Given the description of an element on the screen output the (x, y) to click on. 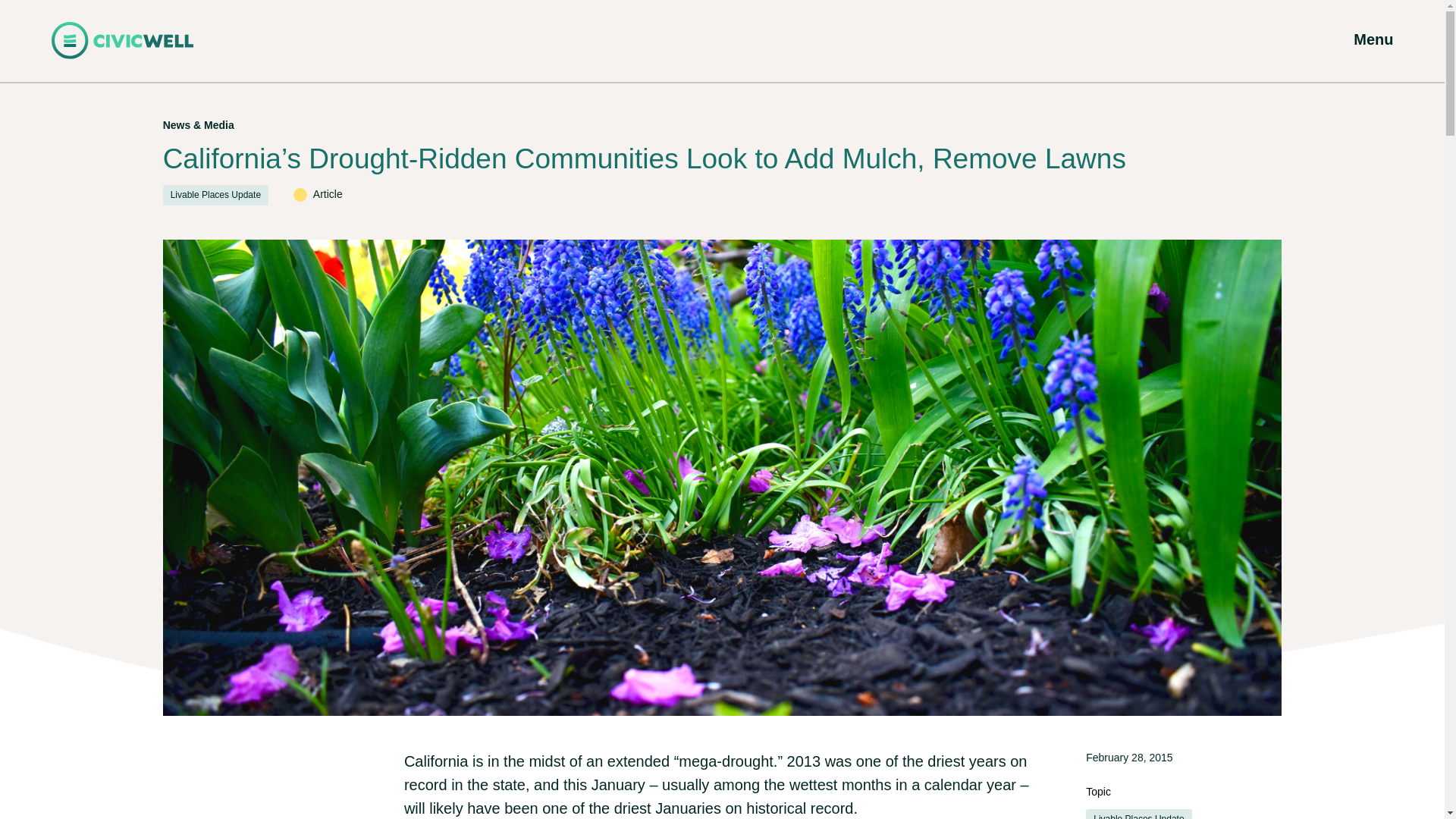
Livable Places Update (1138, 814)
